Given the description of an element on the screen output the (x, y) to click on. 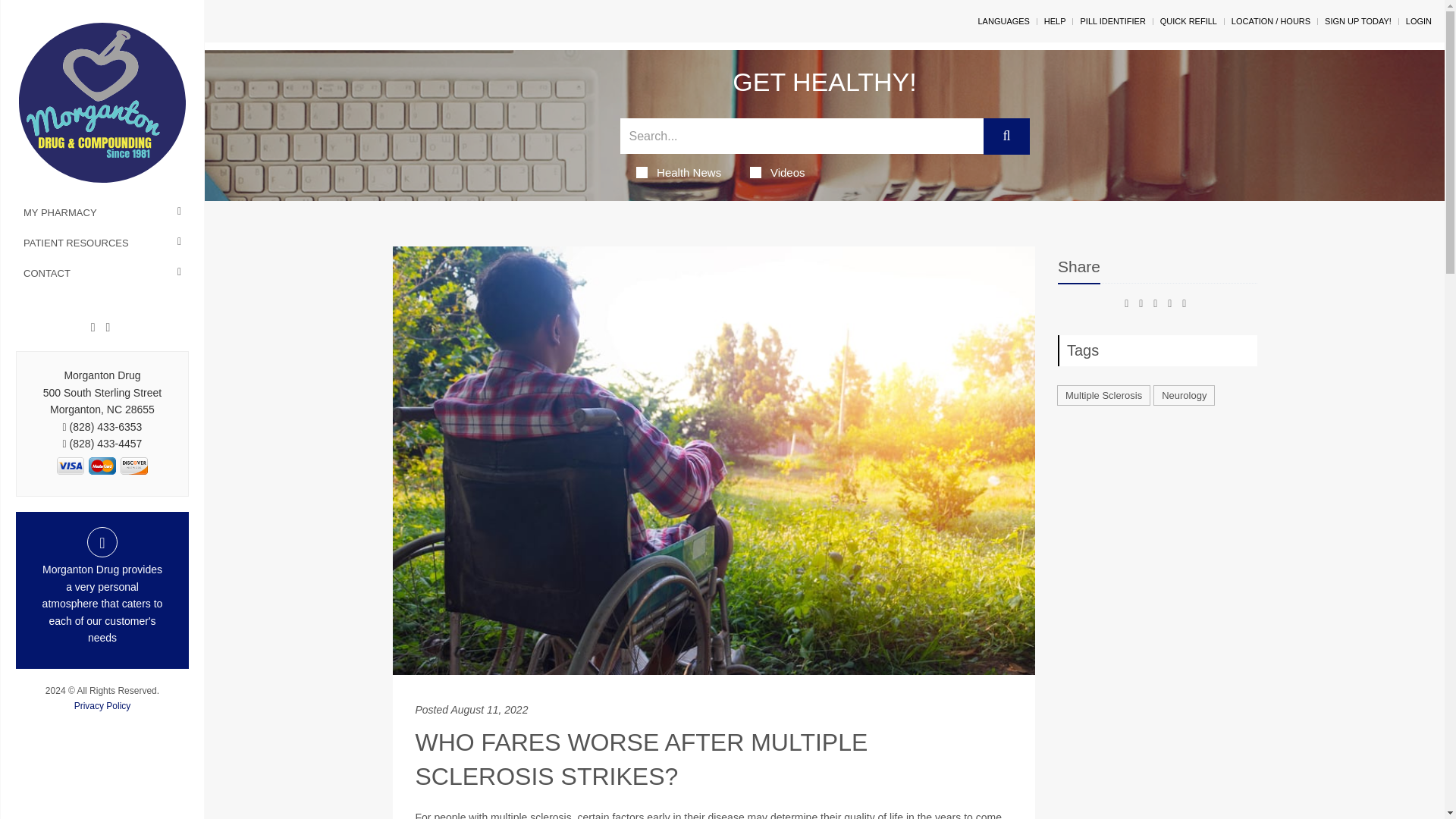
HELP (1054, 20)
LOGIN (1418, 20)
1 (101, 466)
PILL IDENTIFIER (1112, 20)
LANGUAGES (1002, 20)
SIGN UP TODAY! (1357, 20)
PATIENT RESOURCES (102, 243)
Privacy Policy (102, 706)
MY PHARMACY (102, 213)
2 (133, 466)
